Given the description of an element on the screen output the (x, y) to click on. 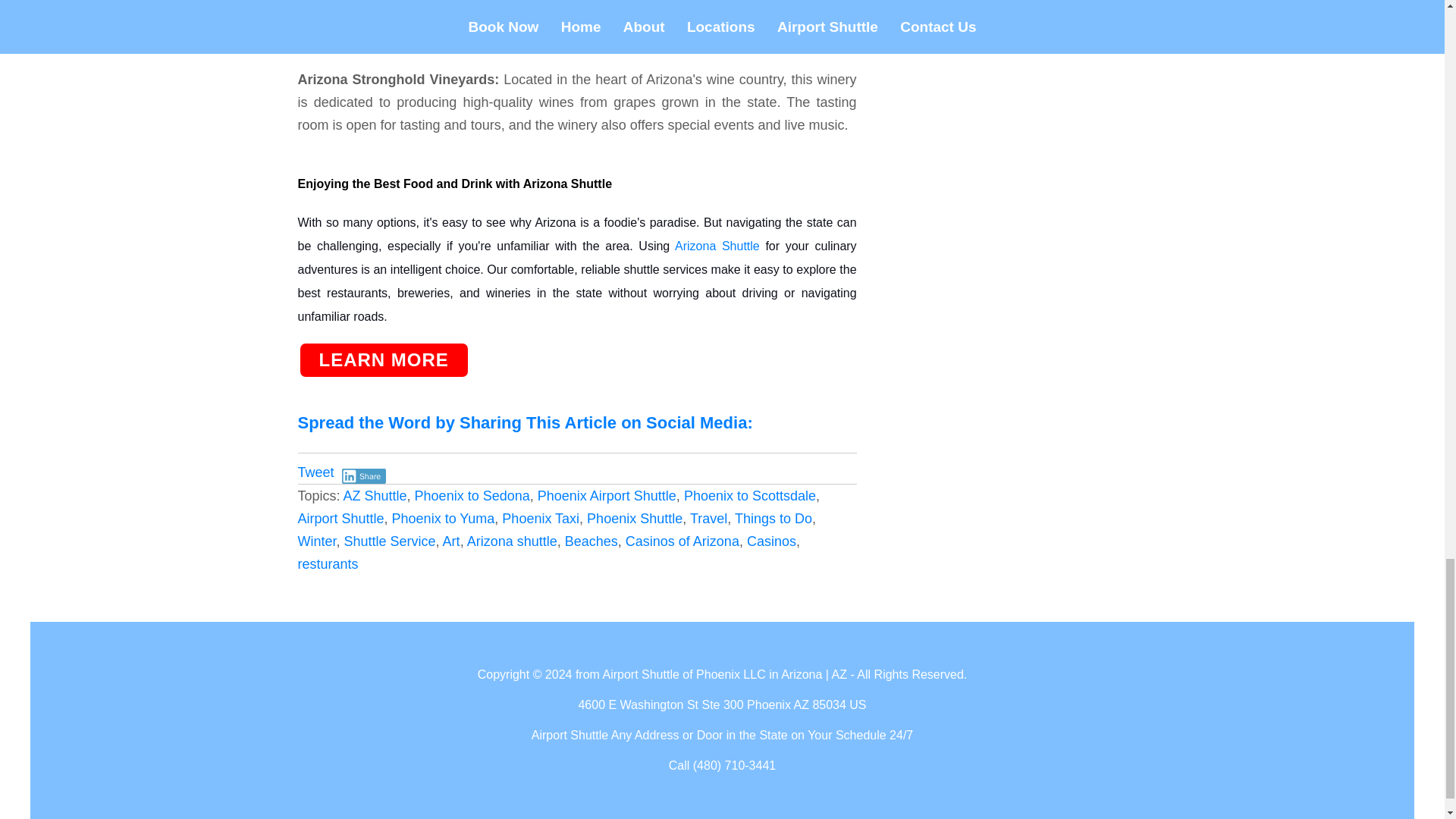
Phoenix Taxi (540, 517)
Travel (708, 517)
Topic Name (540, 517)
Phoenix Airport Shuttle (607, 494)
Topic Name (512, 540)
AZ Shuttle (375, 494)
Check Airport Shuttle Rates (382, 360)
Topic Name (389, 540)
Things to Do (773, 517)
Shuttle Service (389, 540)
